Given the description of an element on the screen output the (x, y) to click on. 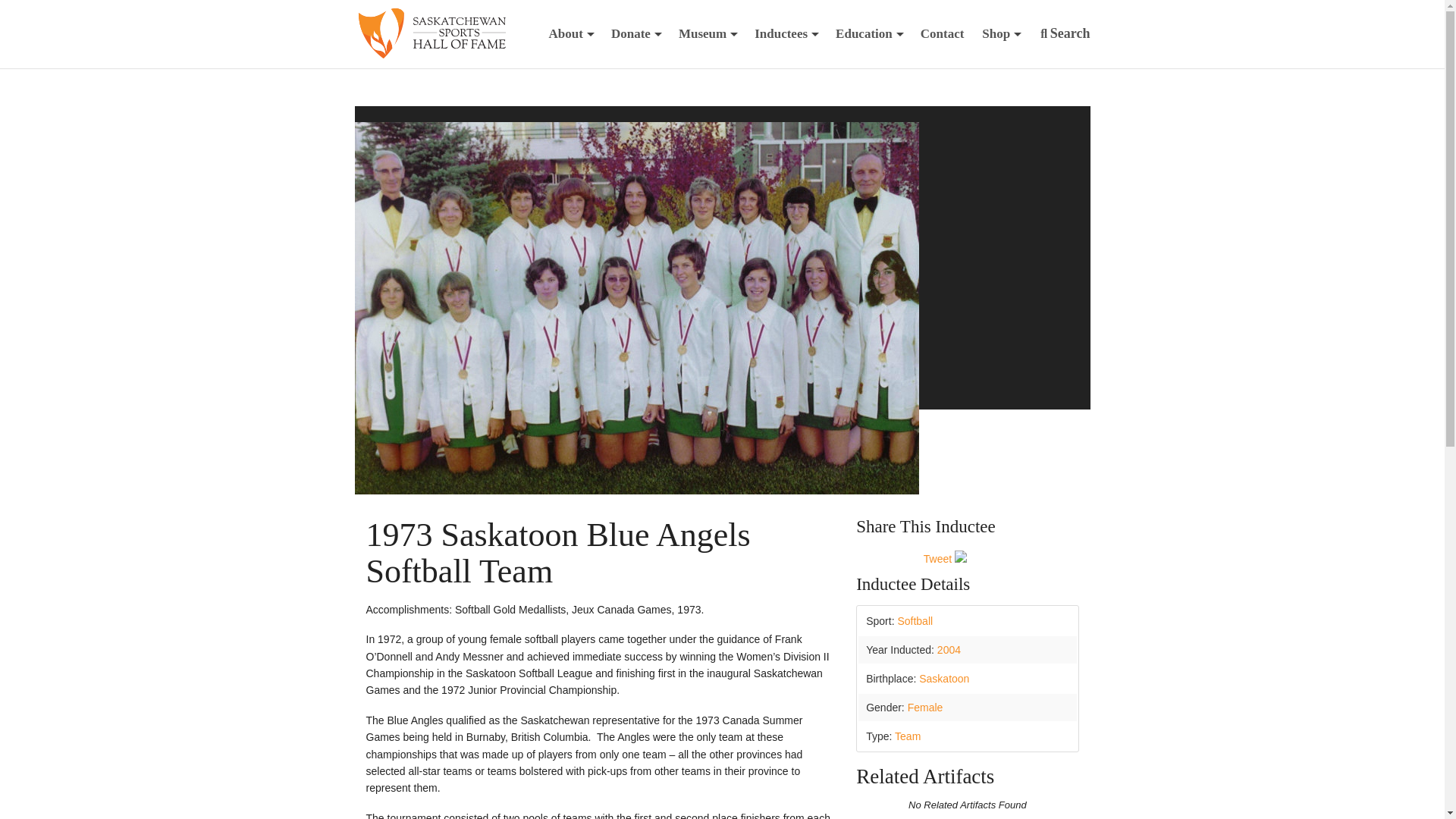
Education (869, 33)
1973 Blue Angels-w800 (636, 490)
Saskatchewan Sports Hall of Fame (430, 33)
Museum (707, 33)
Search (1064, 33)
Donate (635, 33)
About (571, 33)
Inductees (786, 33)
